Given the description of an element on the screen output the (x, y) to click on. 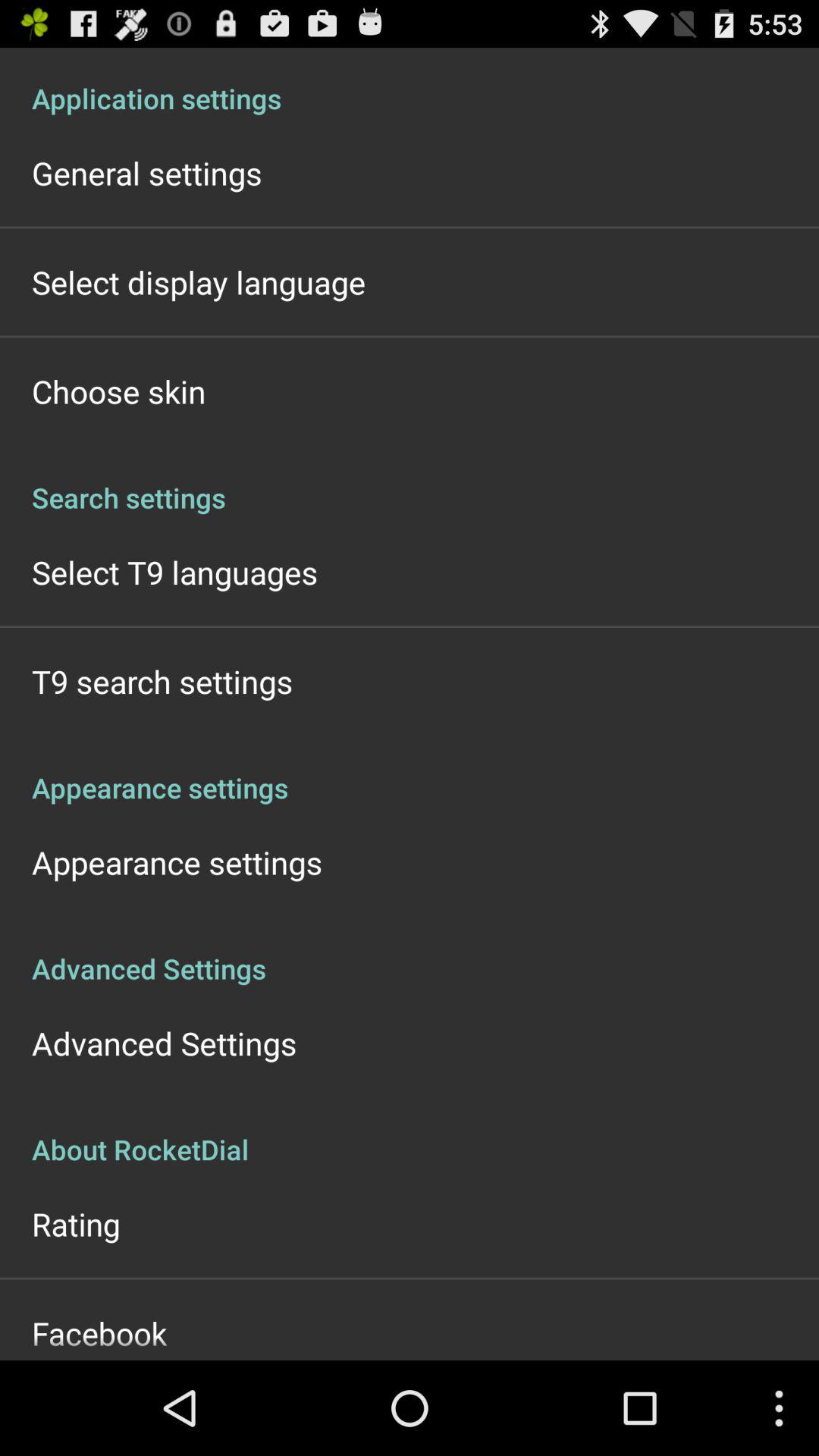
press item below advanced settings (409, 1133)
